Given the description of an element on the screen output the (x, y) to click on. 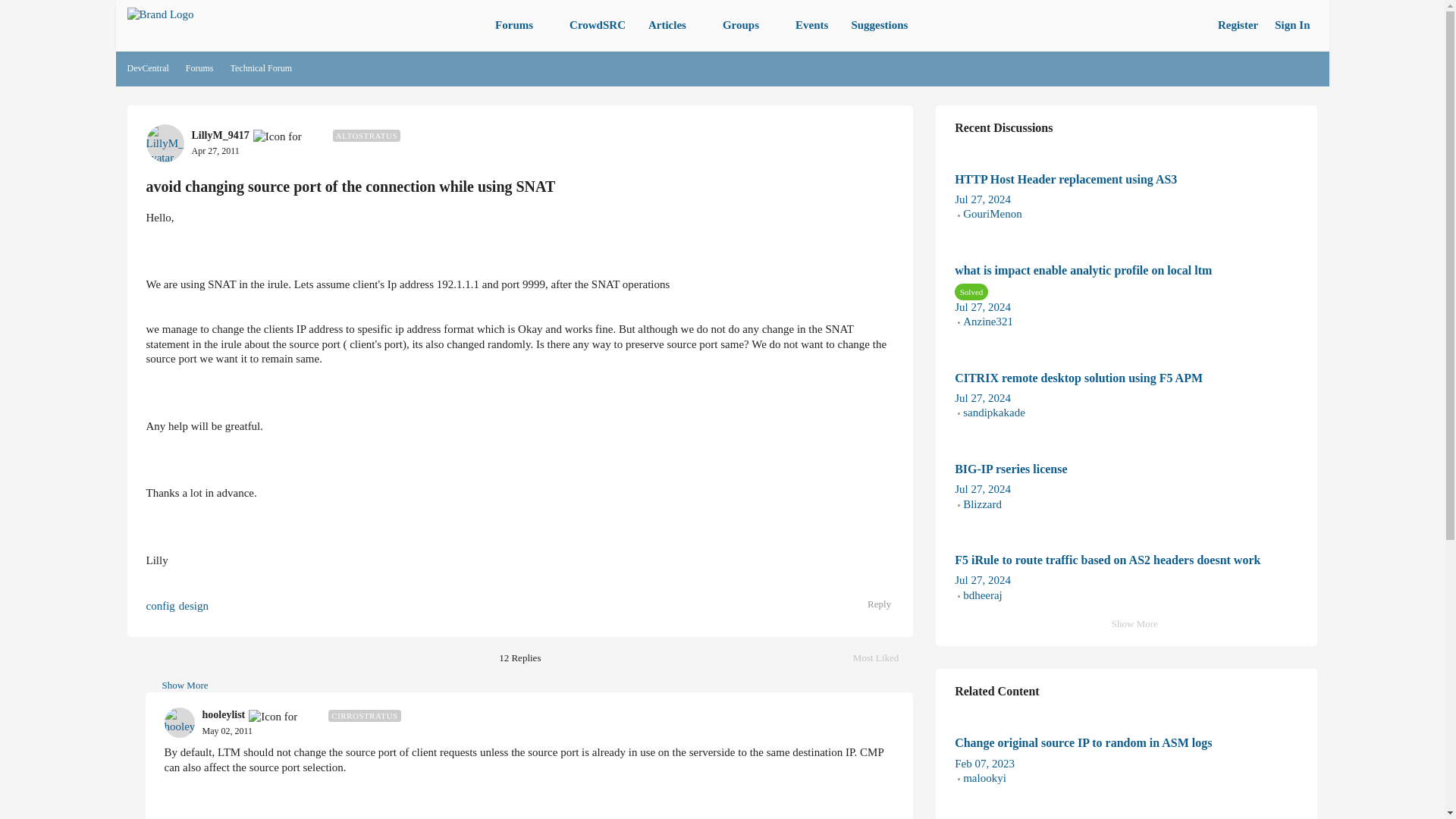
July 27, 2024 at 3:46 AM (982, 580)
July 27, 2024 at 4:19 AM (982, 398)
Show More (1126, 624)
Skip to content (179, 54)
Show More (176, 685)
Jul 27, 2024 (982, 199)
Show More (176, 685)
CrowdSRC (597, 25)
Groups (747, 25)
design (193, 605)
Jul 27, 2024 (982, 306)
Technical Forum (261, 68)
Articles (673, 25)
Forums (520, 25)
Suggestions (879, 25)
